Given the description of an element on the screen output the (x, y) to click on. 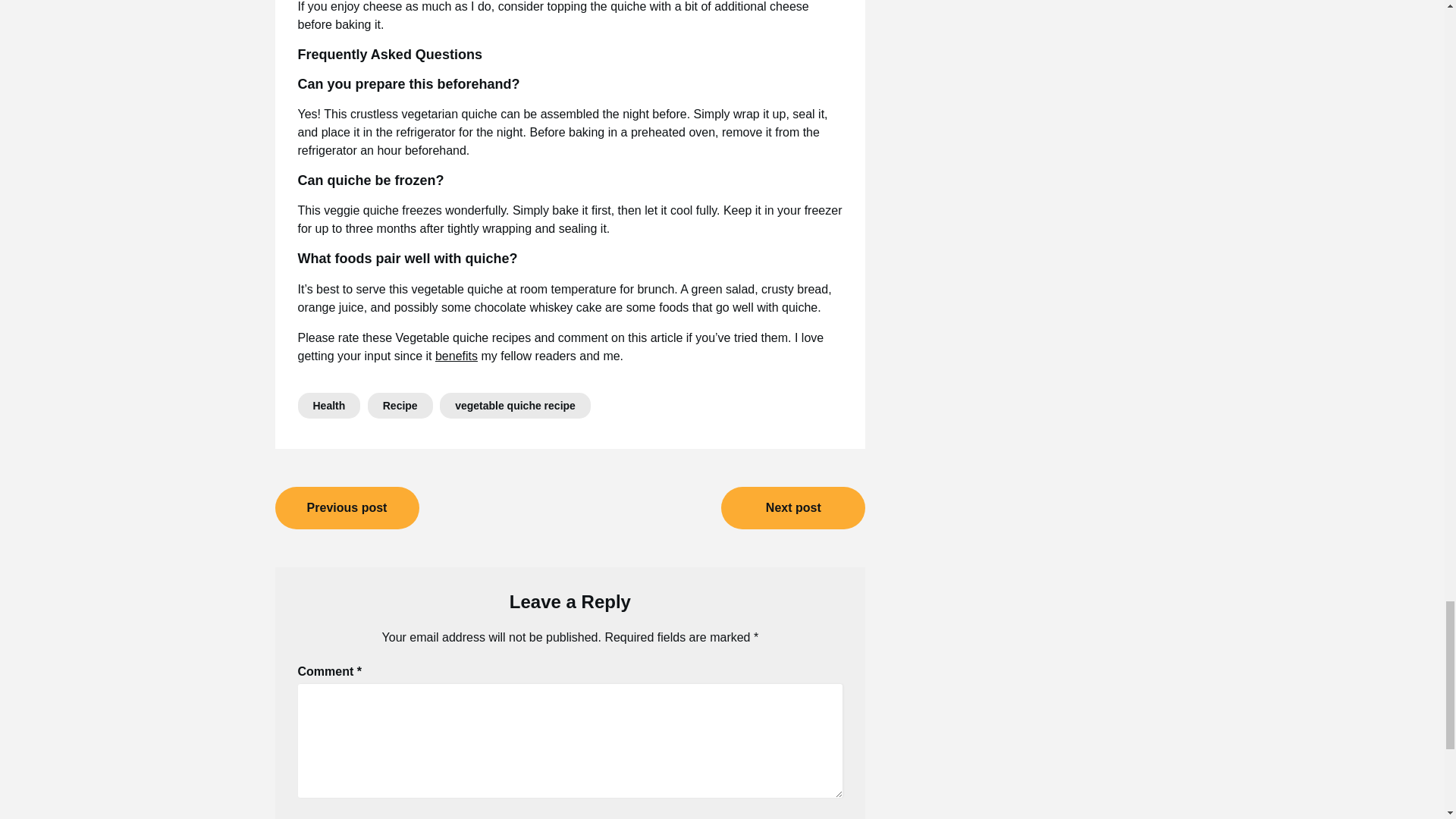
benefits (456, 355)
